Given the description of an element on the screen output the (x, y) to click on. 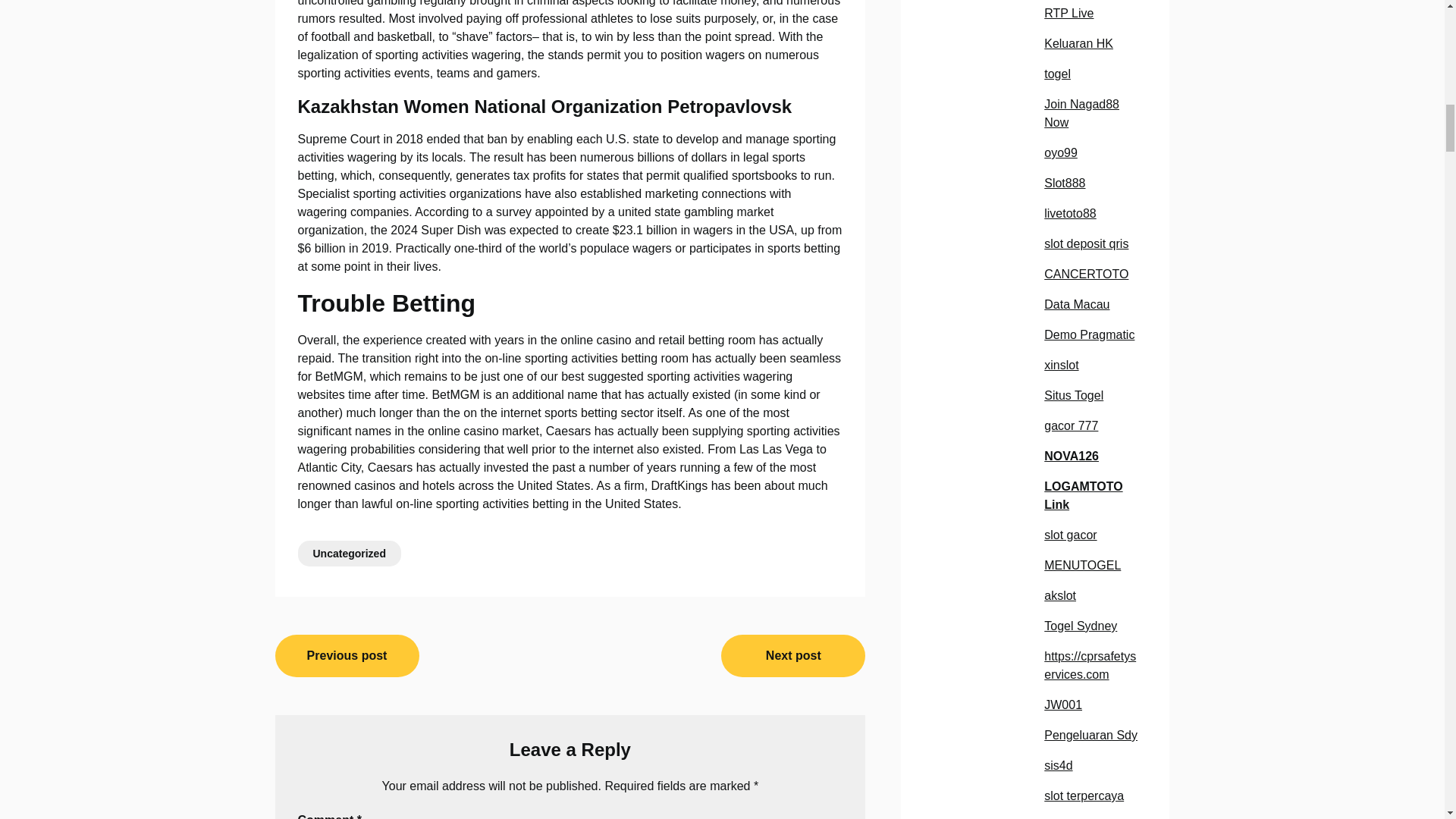
Uncategorized (348, 553)
Next post (792, 655)
Previous post (347, 655)
